Given the description of an element on the screen output the (x, y) to click on. 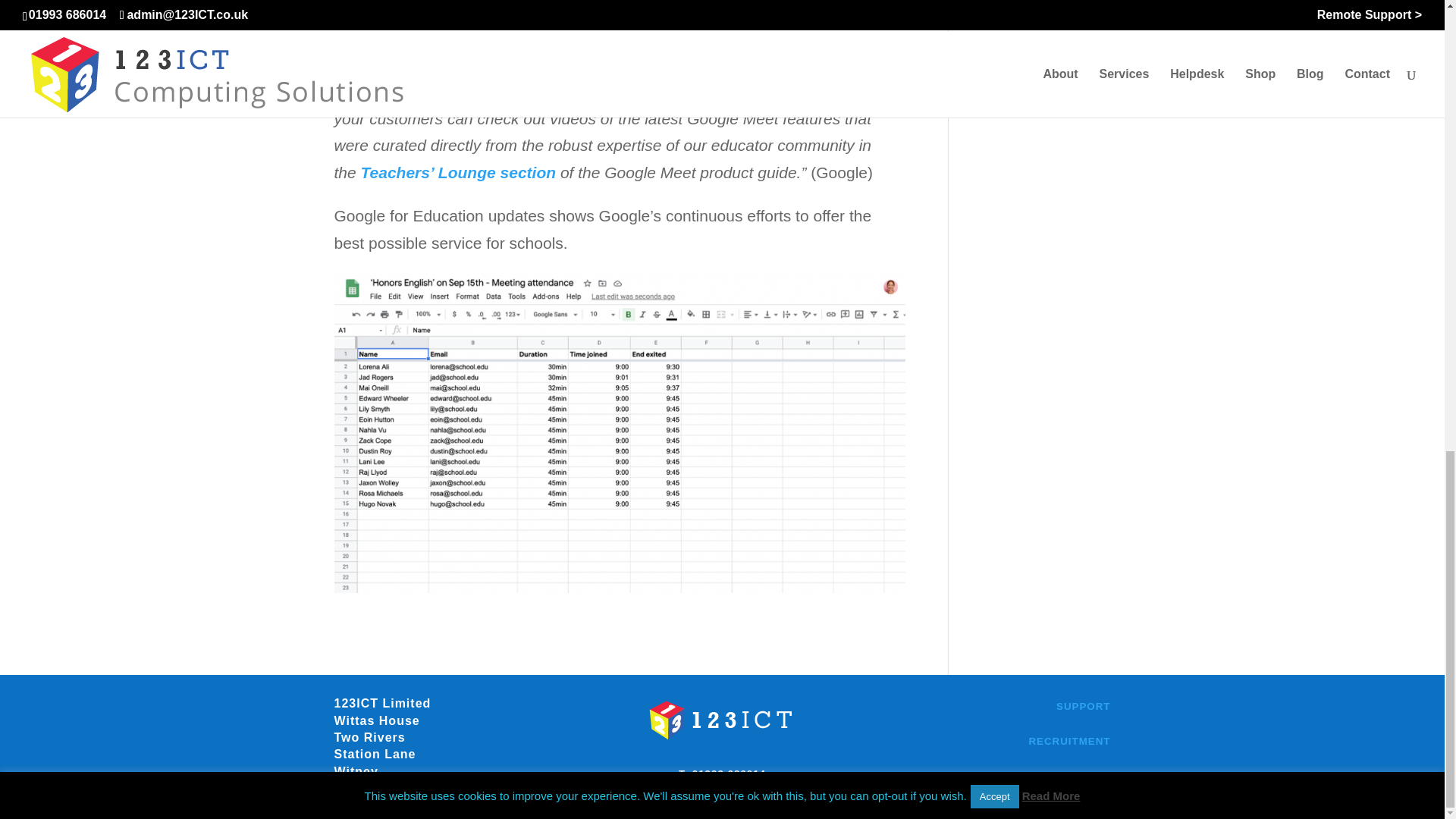
RECRUITMENT (1068, 740)
improvements to the accessibility (534, 1)
PRIVACY POLICY (1061, 776)
SUPPORT (1083, 706)
Teacher Center product guides (487, 63)
